Given the description of an element on the screen output the (x, y) to click on. 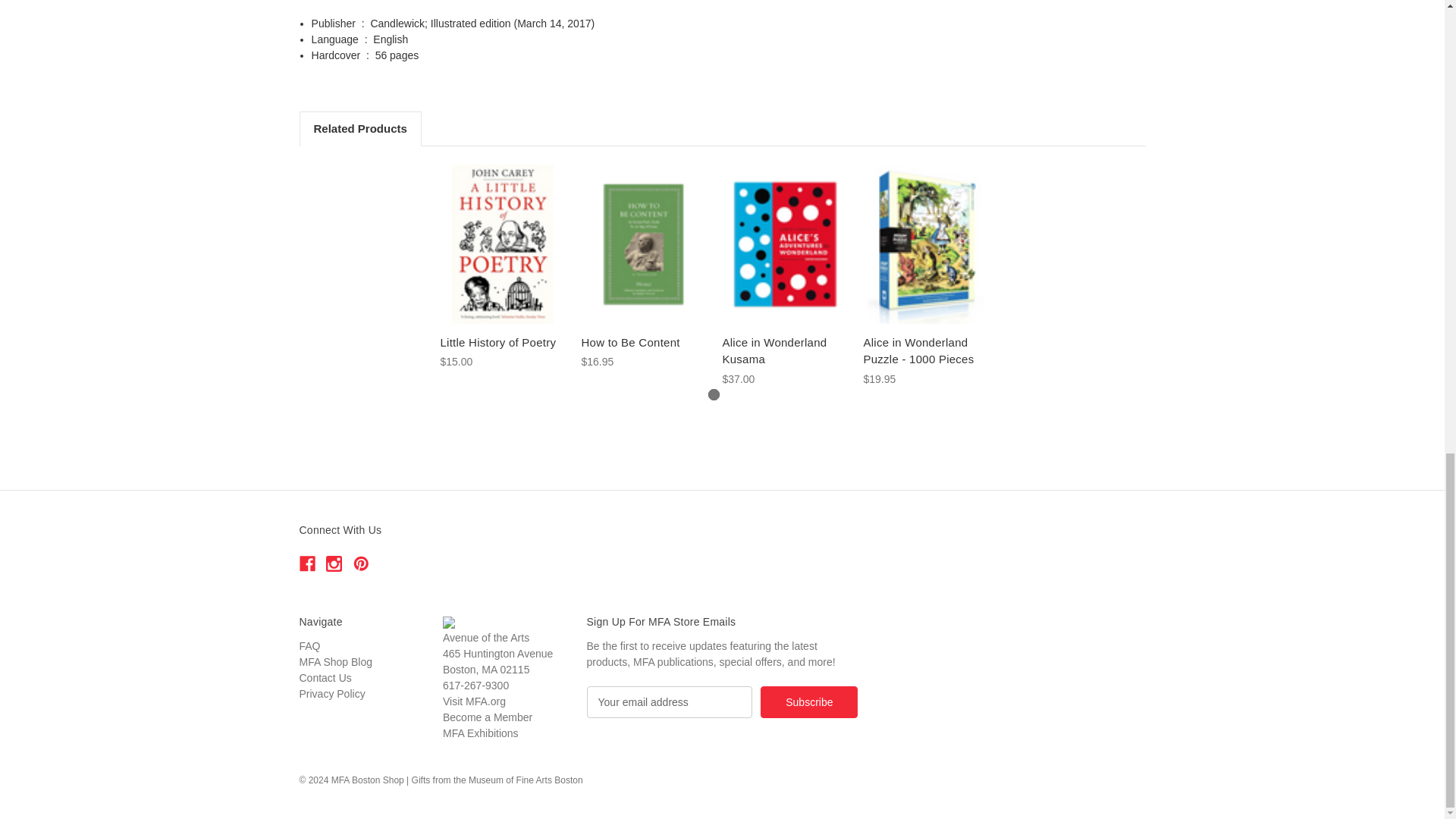
Facebook (306, 563)
Pinterest (361, 563)
Instagram (334, 563)
Subscribe (808, 702)
